Given the description of an element on the screen output the (x, y) to click on. 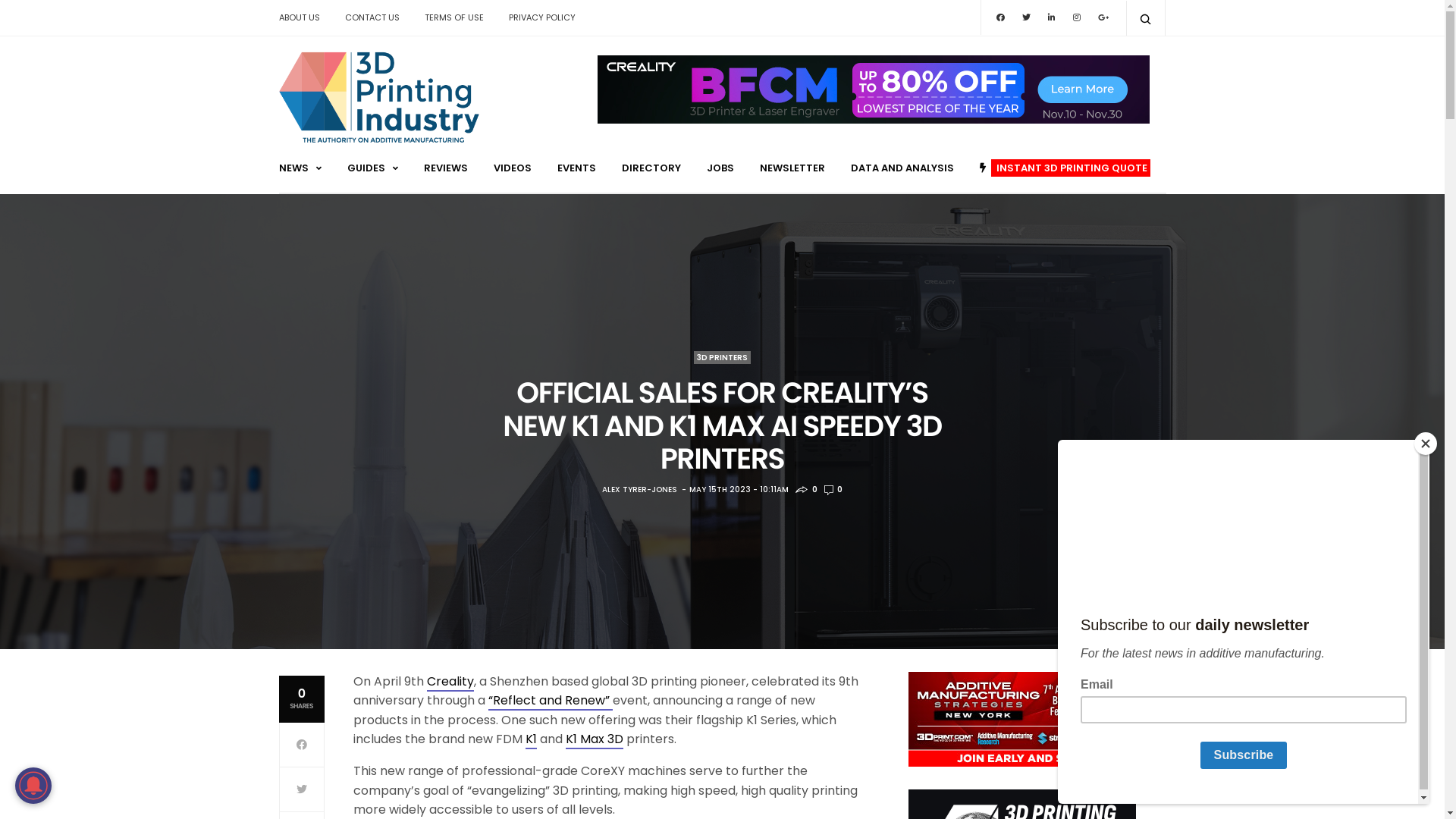
0 Element type: text (833, 489)
PRIVACY POLICY Element type: text (541, 17)
NEWSLETTER Element type: text (792, 167)
K1 Element type: text (530, 739)
DIRECTORY Element type: text (650, 167)
3D PRINTERS Element type: text (721, 357)
GUIDES Element type: text (372, 167)
CONTACT US Element type: text (372, 17)
ABOUT US Element type: text (305, 17)
INSTANT 3D PRINTING QUOTE Element type: text (1064, 167)
Search Element type: text (16, 16)
REVIEWS Element type: text (445, 167)
DATA AND ANALYSIS Element type: text (901, 167)
TERMS OF USE Element type: text (453, 17)
JOBS Element type: text (720, 167)
ALEX TYRER-JONES Element type: text (639, 489)
K1 Max 3D Element type: text (594, 739)
Creality Element type: text (449, 681)
VIDEOS Element type: text (511, 167)
EVENTS Element type: text (575, 167)
NEWS Element type: text (300, 167)
